Given the description of an element on the screen output the (x, y) to click on. 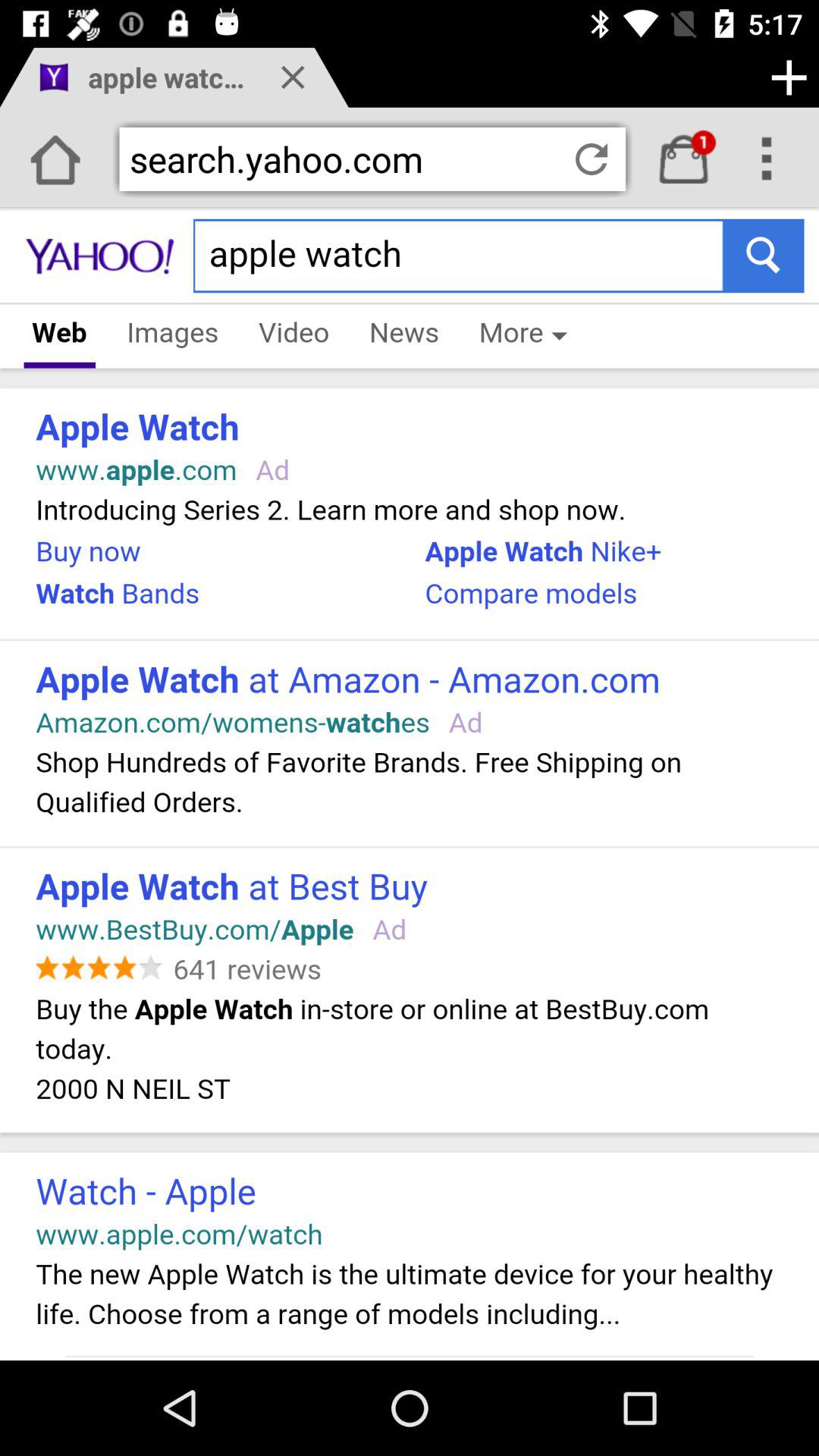
message inbox (683, 159)
